Given the description of an element on the screen output the (x, y) to click on. 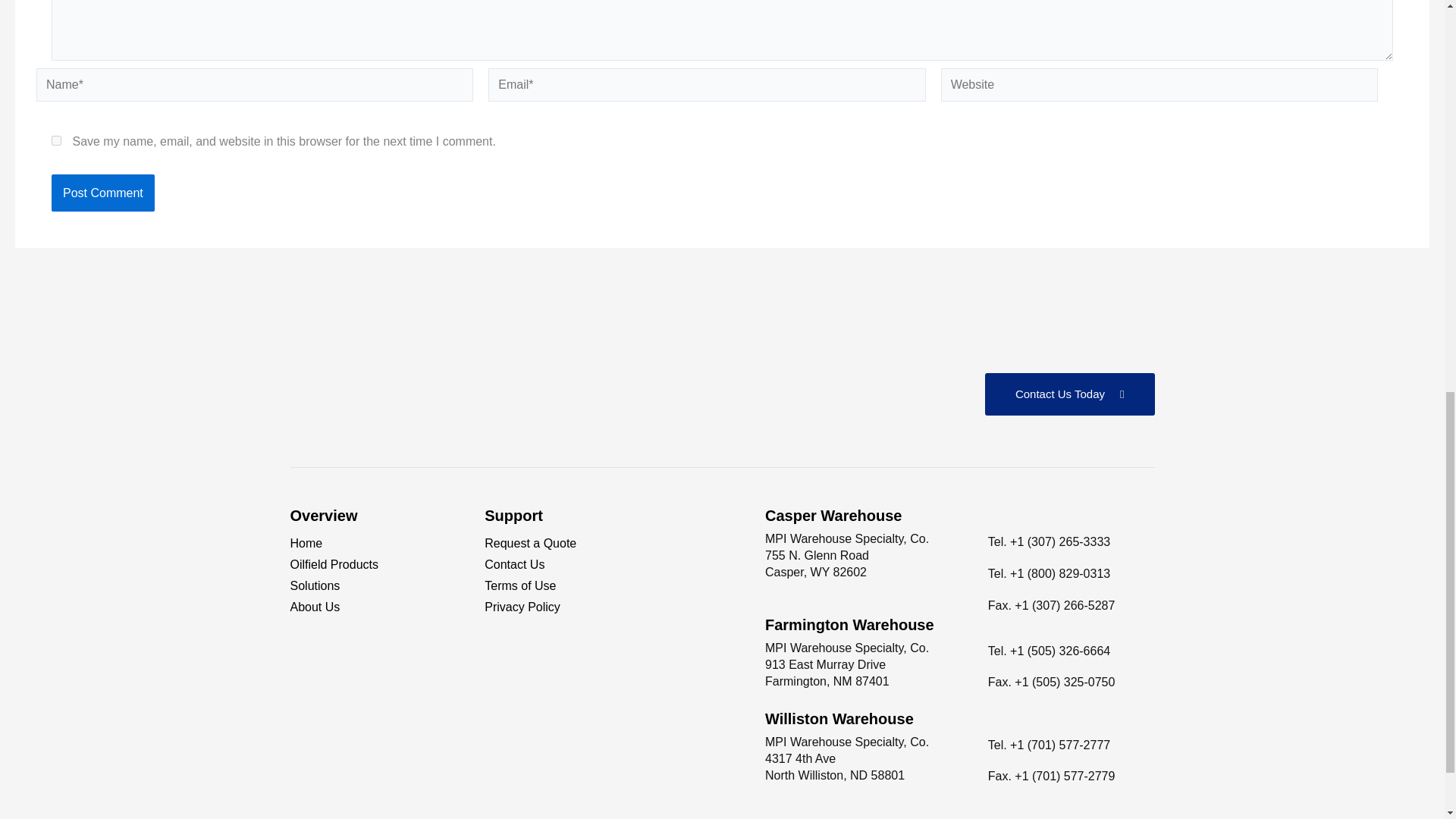
yes (55, 140)
Post Comment (102, 193)
